Given the description of an element on the screen output the (x, y) to click on. 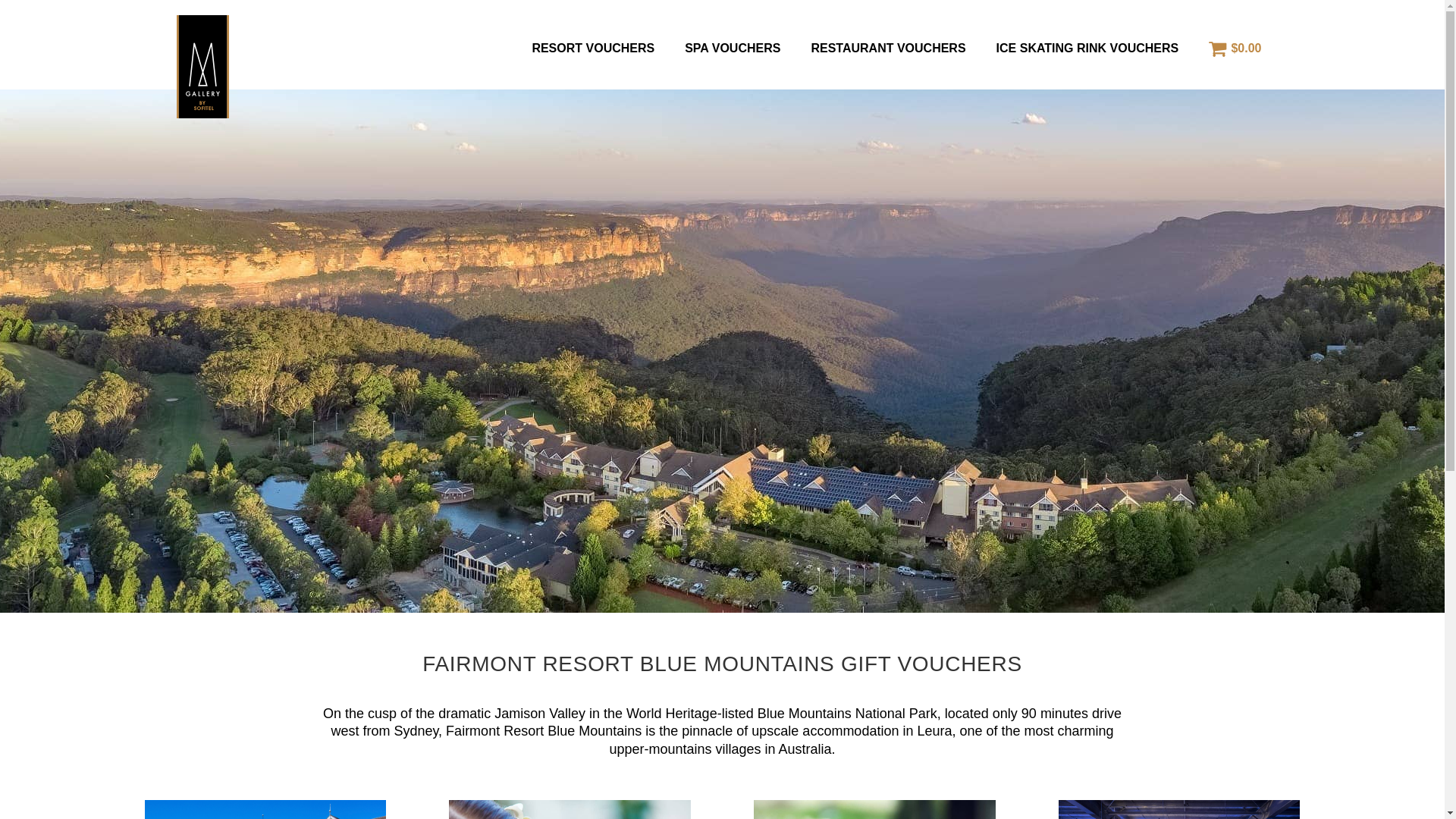
SPA VOUCHERS Element type: text (732, 48)
$0.00 Element type: text (1234, 48)
RESTAURANT VOUCHERS Element type: text (887, 48)
RESORT VOUCHERS Element type: text (592, 48)
ICE SKATING RINK VOUCHERS Element type: text (1087, 48)
fairmont-resort-aerial Element type: hover (722, 346)
